Given the description of an element on the screen output the (x, y) to click on. 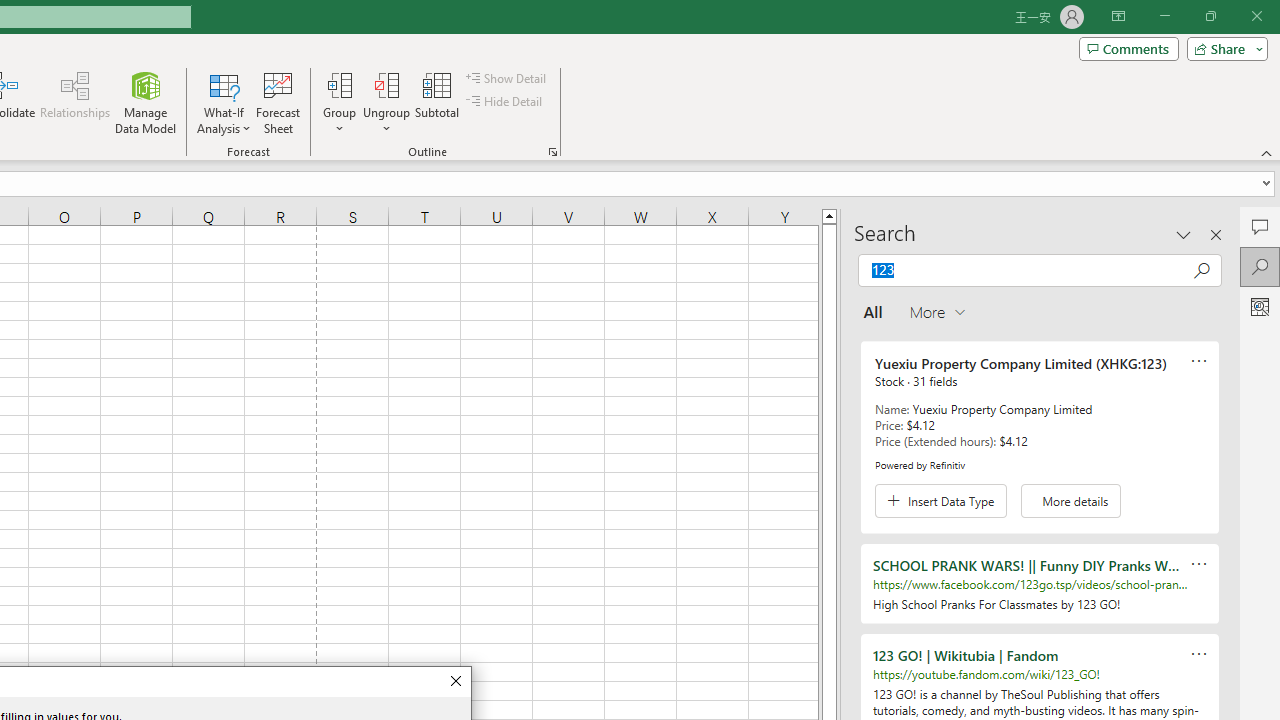
Relationships (75, 102)
Manage Data Model (145, 102)
Group and Outline Settings (552, 151)
